Given the description of an element on the screen output the (x, y) to click on. 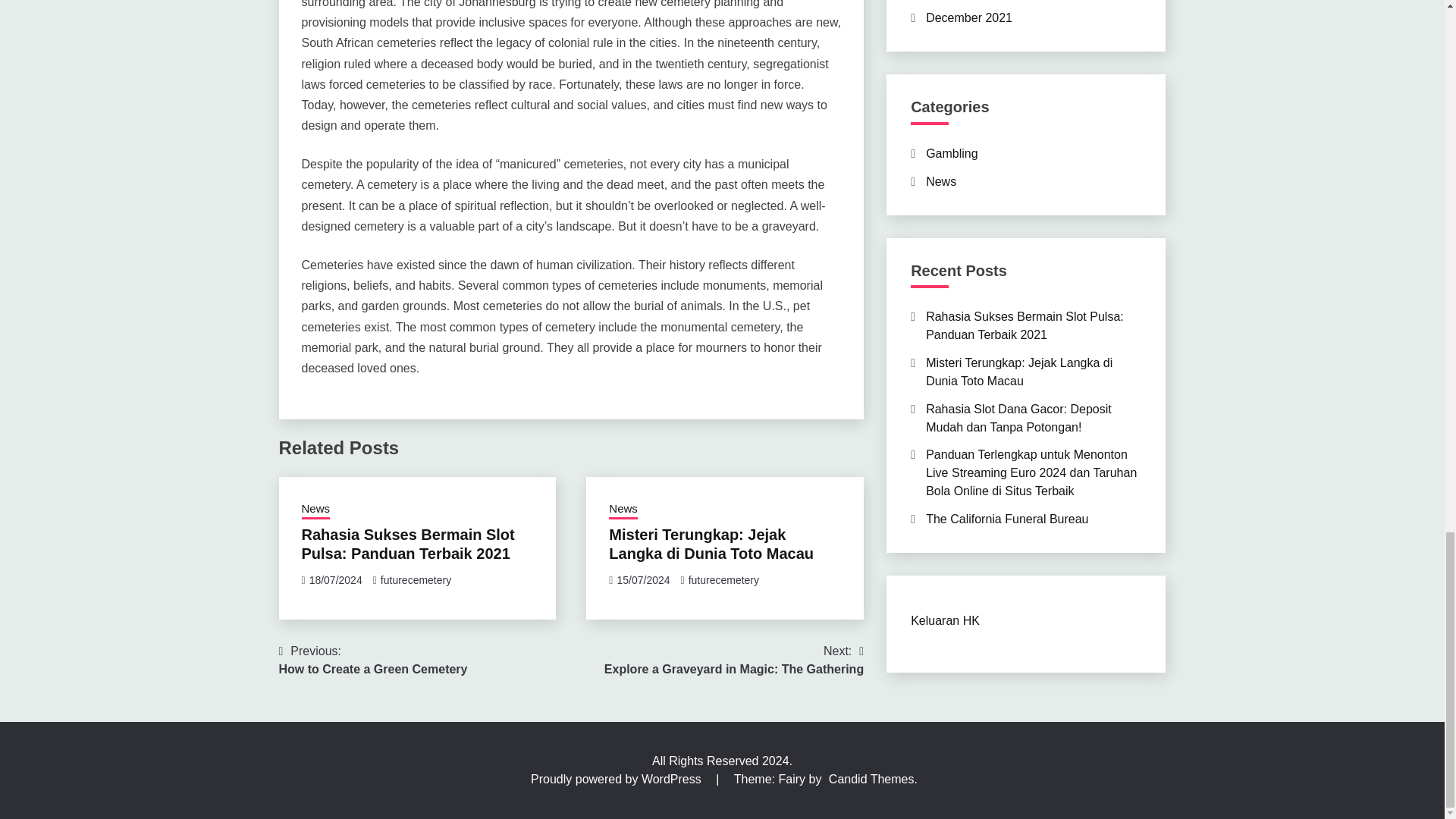
futurecemetery (723, 580)
Misteri Terungkap: Jejak Langka di Dunia Toto Macau (373, 660)
News (710, 543)
News (315, 510)
Rahasia Sukses Bermain Slot Pulsa: Panduan Terbaik 2021 (733, 660)
futurecemetery (622, 510)
